Given the description of an element on the screen output the (x, y) to click on. 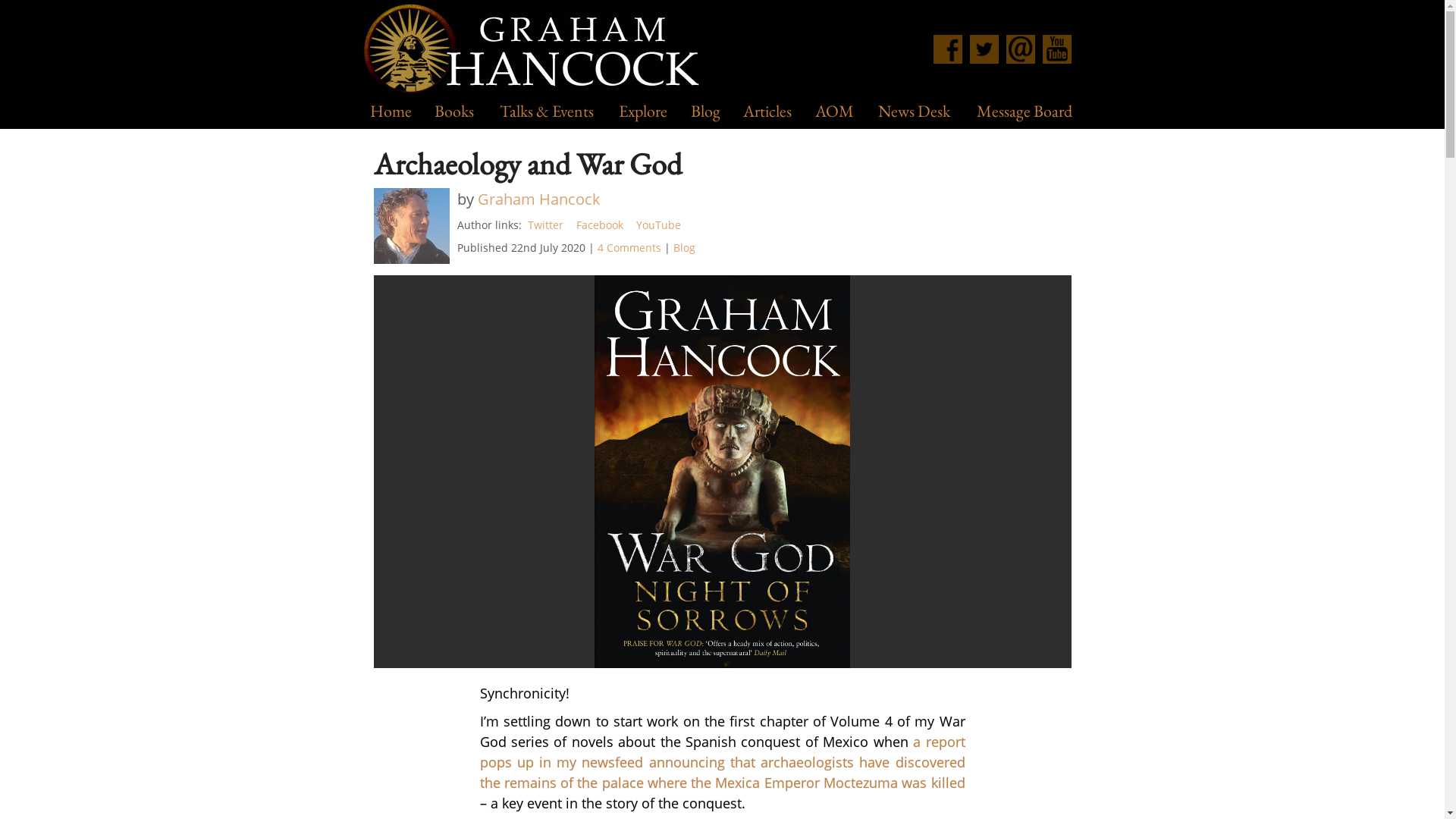
News Desk (913, 112)
Home (390, 112)
Twitter (545, 224)
Graham Hancock (538, 198)
Explore (643, 112)
Blog (704, 112)
Blog (683, 246)
AOM (833, 112)
Message Board (1024, 112)
YouTube (657, 224)
Books (453, 112)
The Official Graham Hancock website (536, 50)
Articles (766, 112)
Facebook (600, 224)
